Given the description of an element on the screen output the (x, y) to click on. 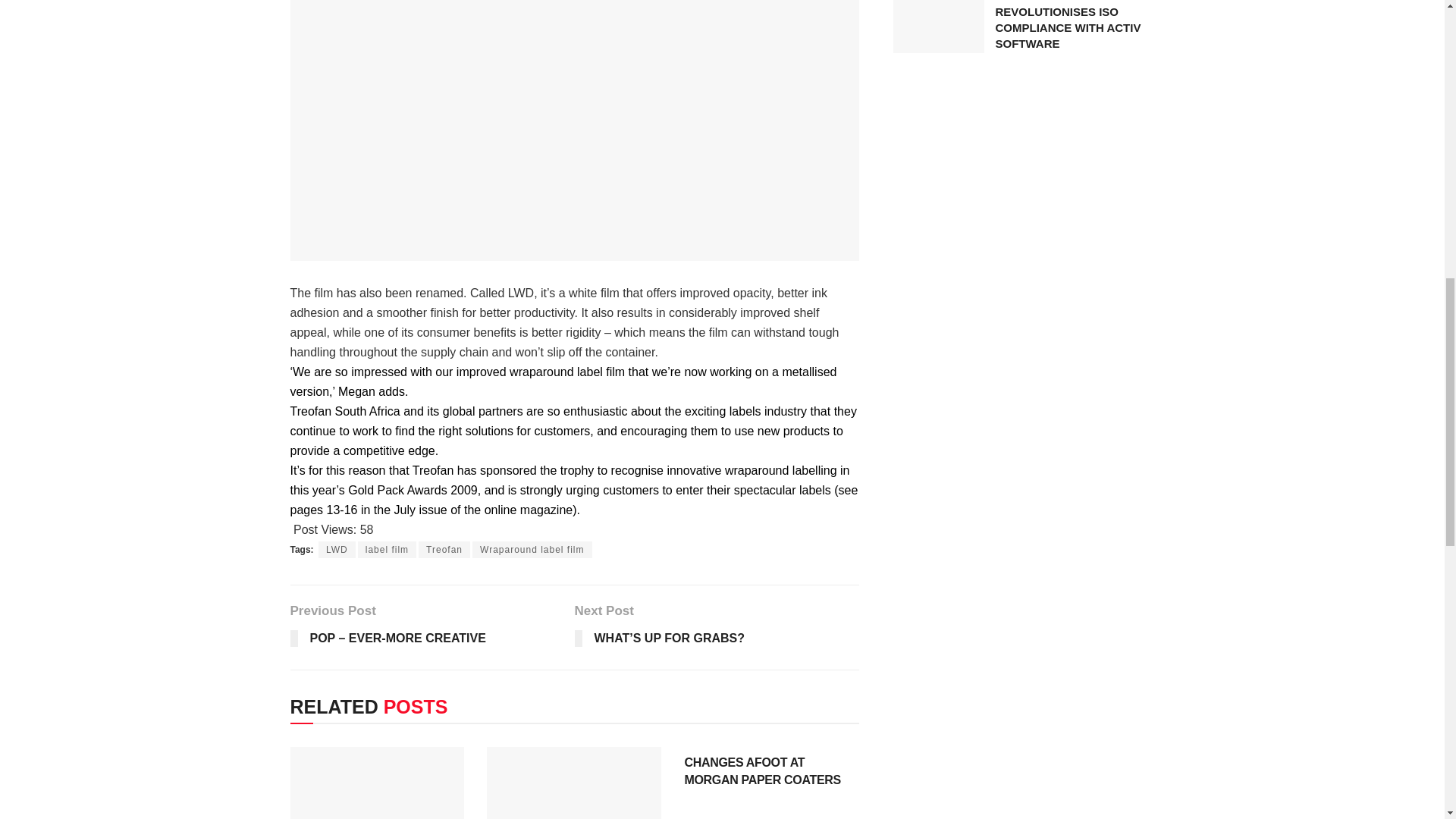
LWD (336, 549)
